Given the description of an element on the screen output the (x, y) to click on. 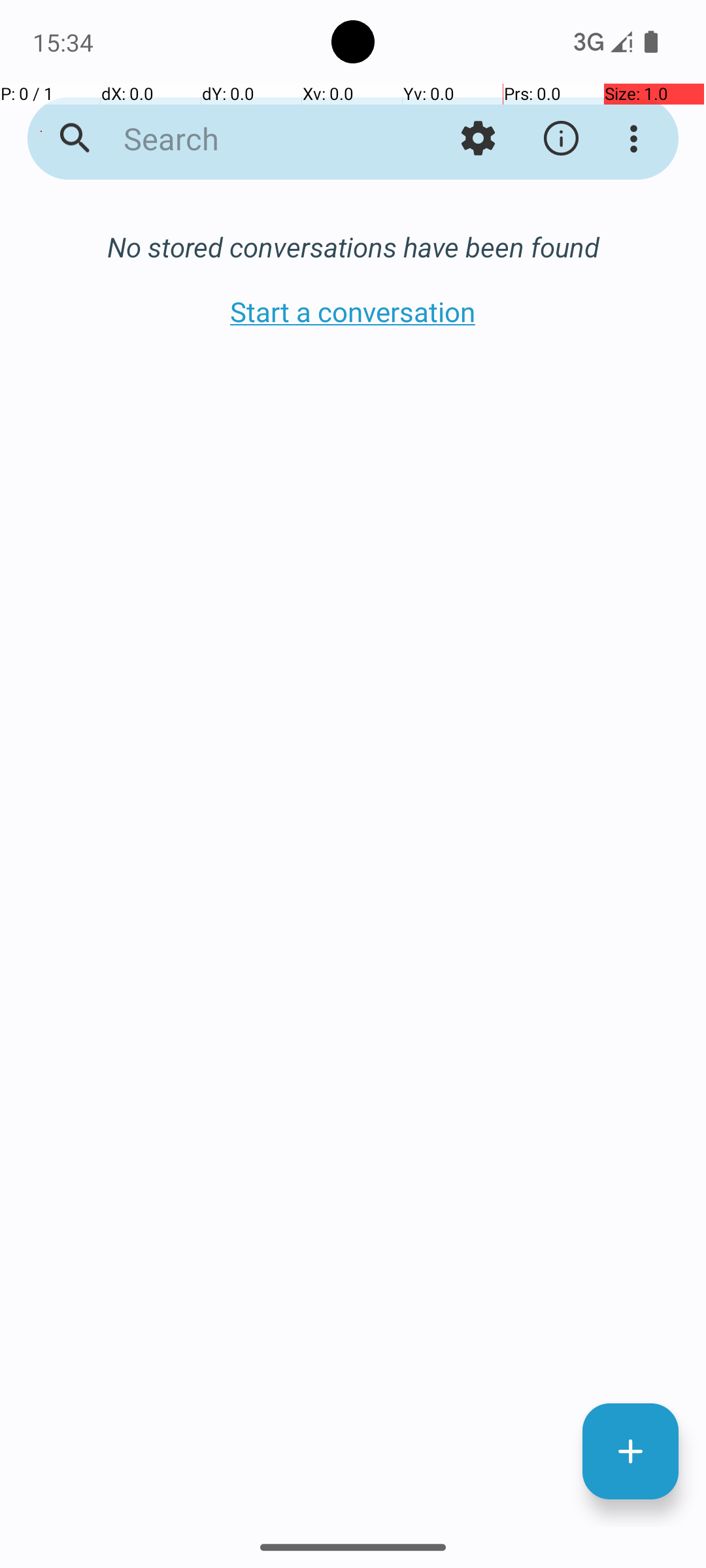
No stored conversations have been found Element type: android.widget.TextView (353, 246)
Start a conversation Element type: android.widget.TextView (352, 311)
